Given the description of an element on the screen output the (x, y) to click on. 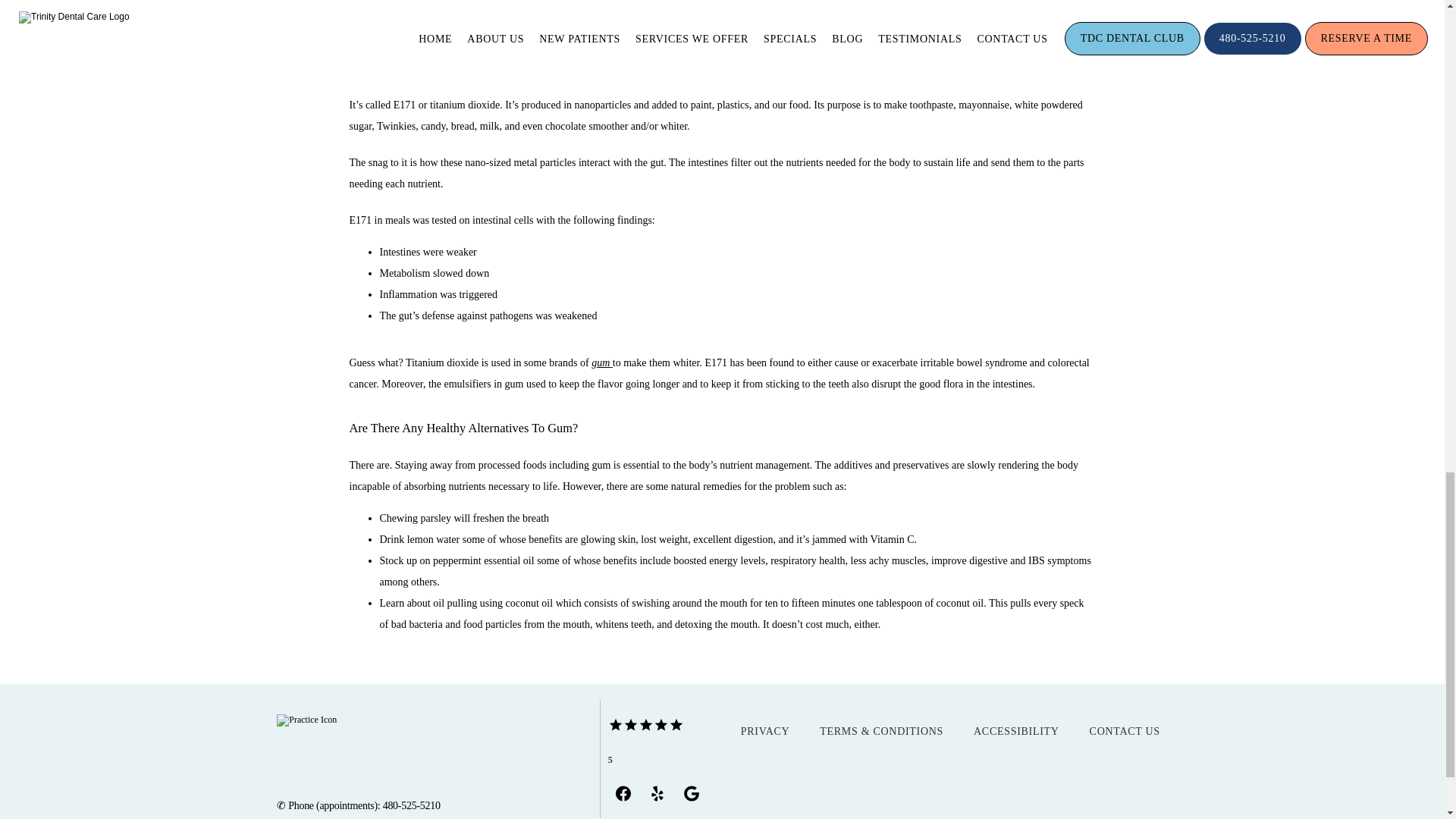
PRIVACY (765, 731)
gum (600, 362)
ACCESSIBILITY (1016, 731)
CONTACT US (1124, 731)
